Given the description of an element on the screen output the (x, y) to click on. 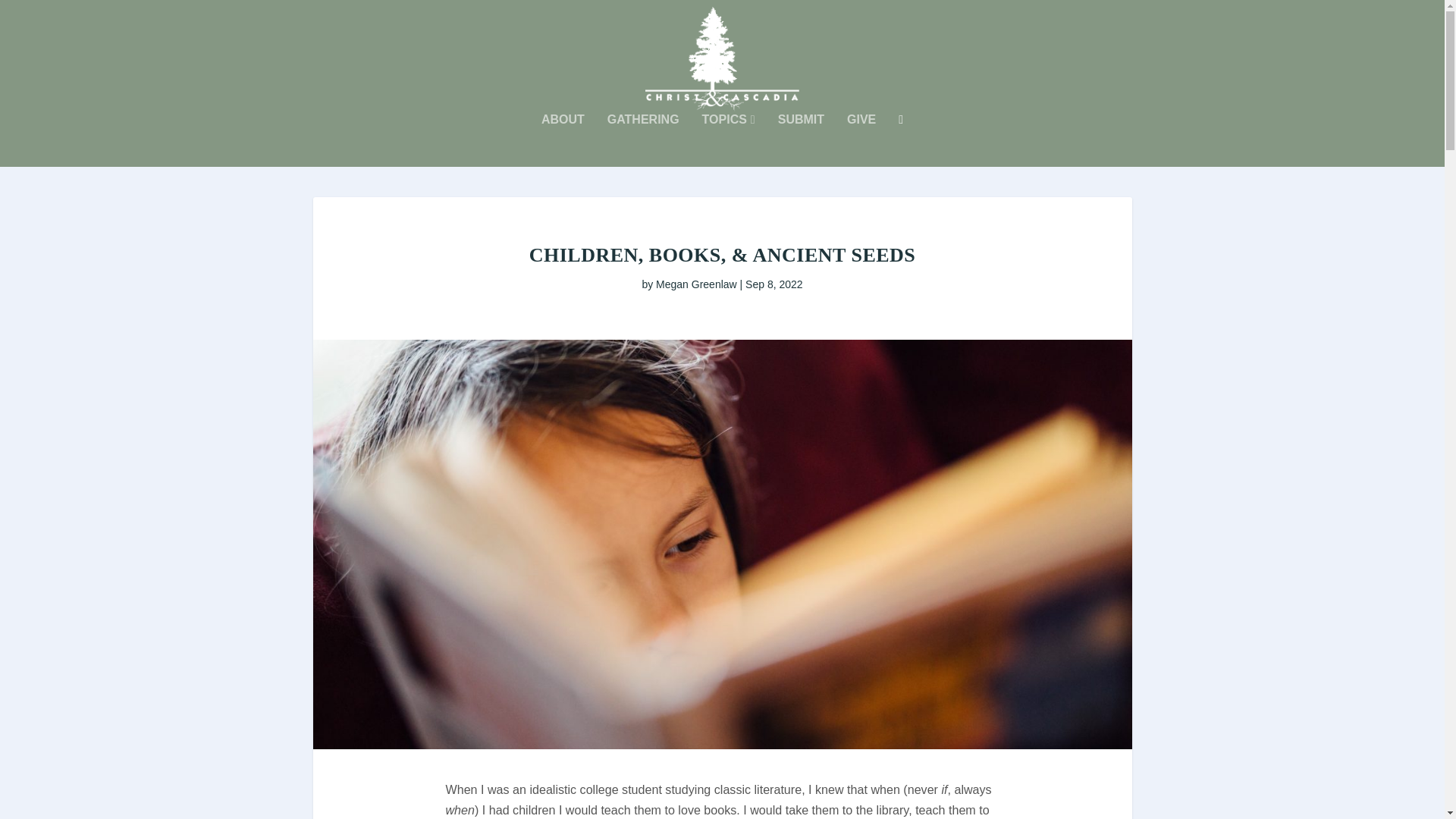
TOPICS (728, 140)
GATHERING (643, 140)
